Given the description of an element on the screen output the (x, y) to click on. 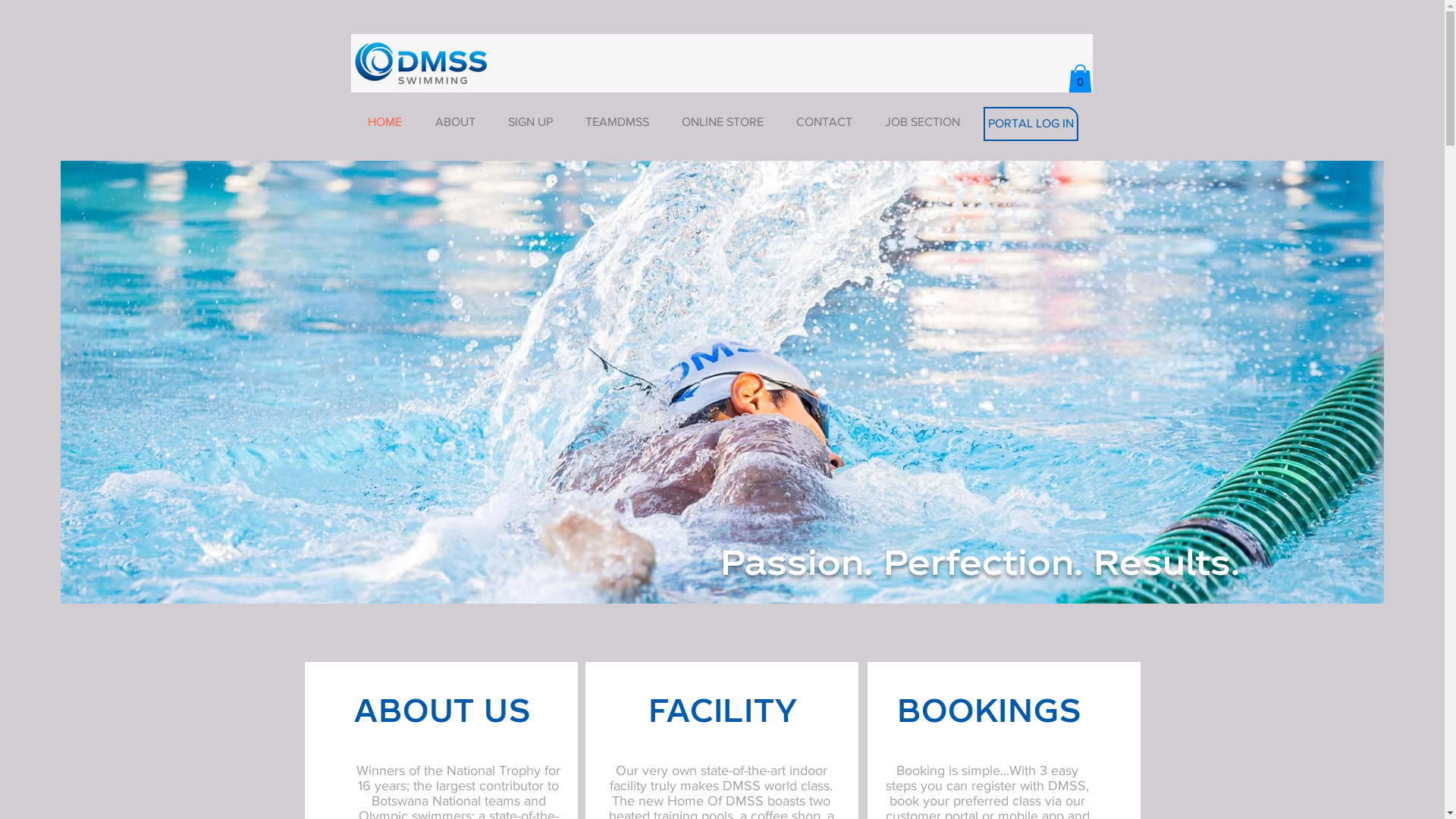
HOME Element type: text (383, 122)
ONLINE STORE Element type: text (722, 122)
CONTACT Element type: text (823, 122)
JOB SECTION Element type: text (922, 122)
SIGN UP Element type: text (529, 122)
ABOUT Element type: text (455, 122)
0 Element type: text (1079, 78)
PORTAL LOG IN Element type: text (1029, 123)
TEAMDMSS Element type: text (616, 122)
